Given the description of an element on the screen output the (x, y) to click on. 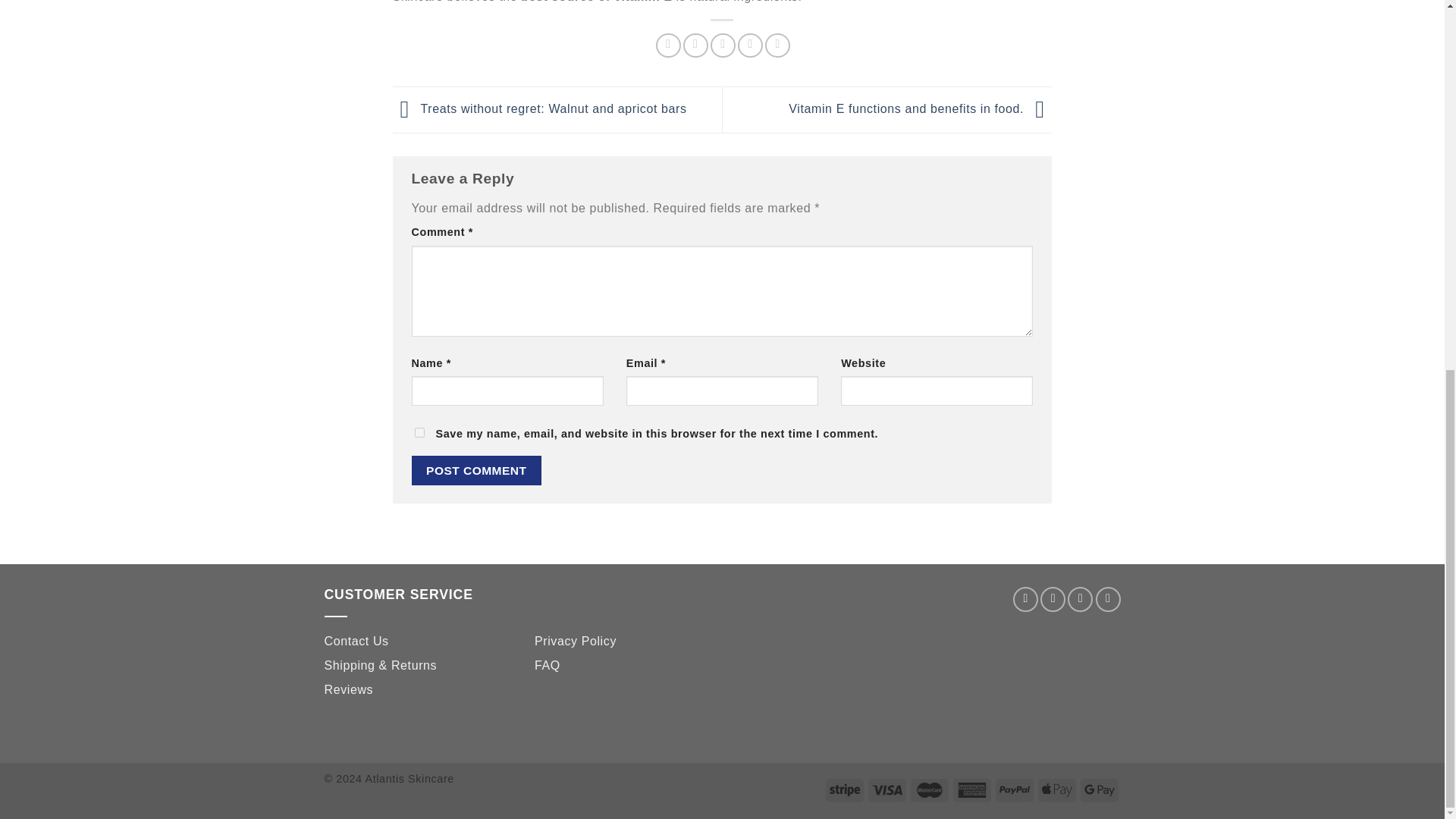
Share on Twitter (694, 44)
Email to a Friend (722, 44)
Pin on Pinterest (750, 44)
Treats without regret: Walnut and apricot bars (540, 108)
Post Comment (475, 470)
yes (418, 432)
Share on Facebook (668, 44)
